Given the description of an element on the screen output the (x, y) to click on. 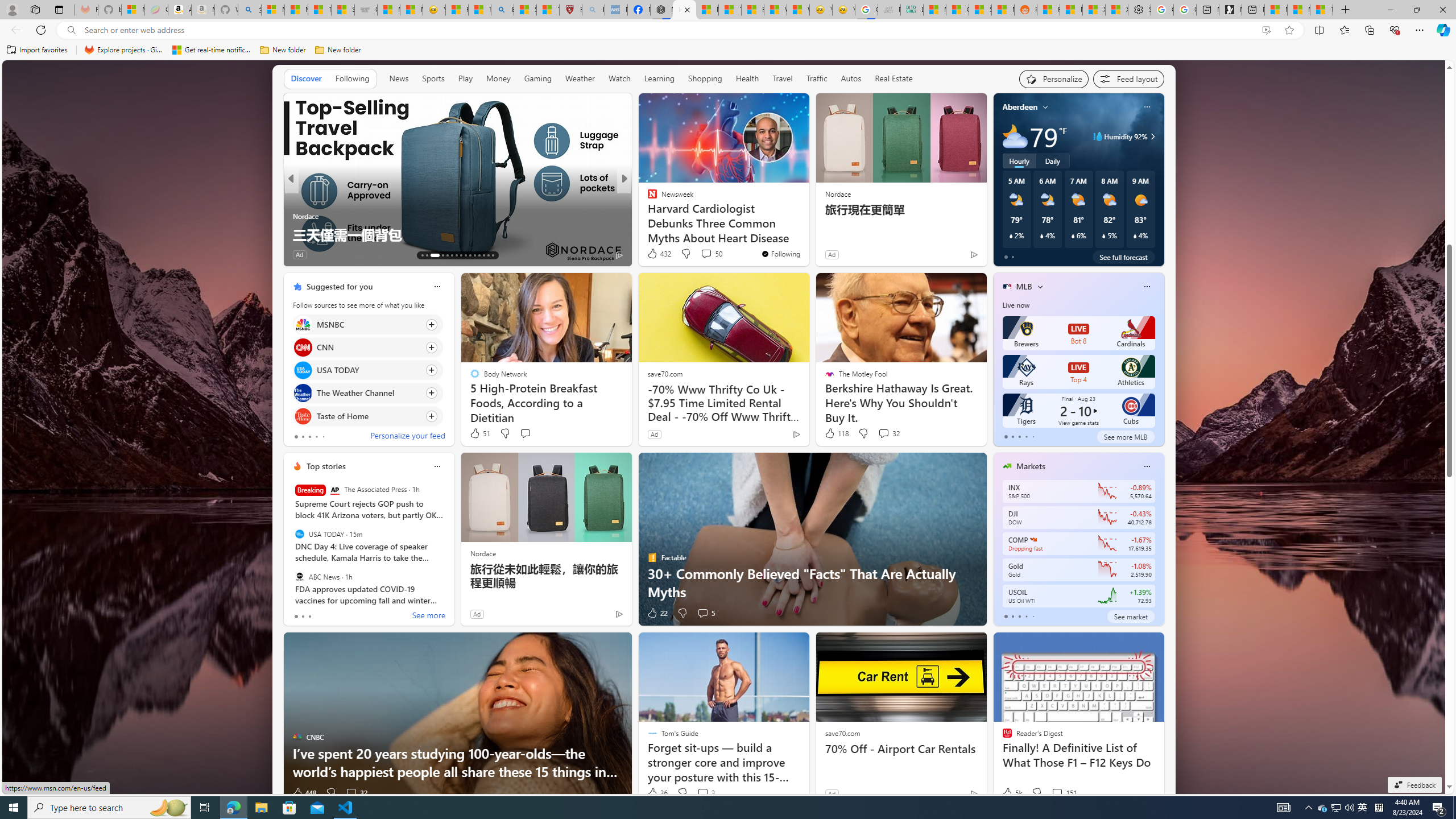
Peachy Fours (647, 215)
Sports (432, 78)
Travel (782, 78)
Bored Panda (647, 215)
Travel (782, 79)
GOBankingRates (296, 197)
View comments 29 Comment (703, 254)
68 Like (652, 254)
Money (497, 79)
Feed settings (1128, 78)
26 Like (652, 254)
Daily (1052, 160)
